Given the description of an element on the screen output the (x, y) to click on. 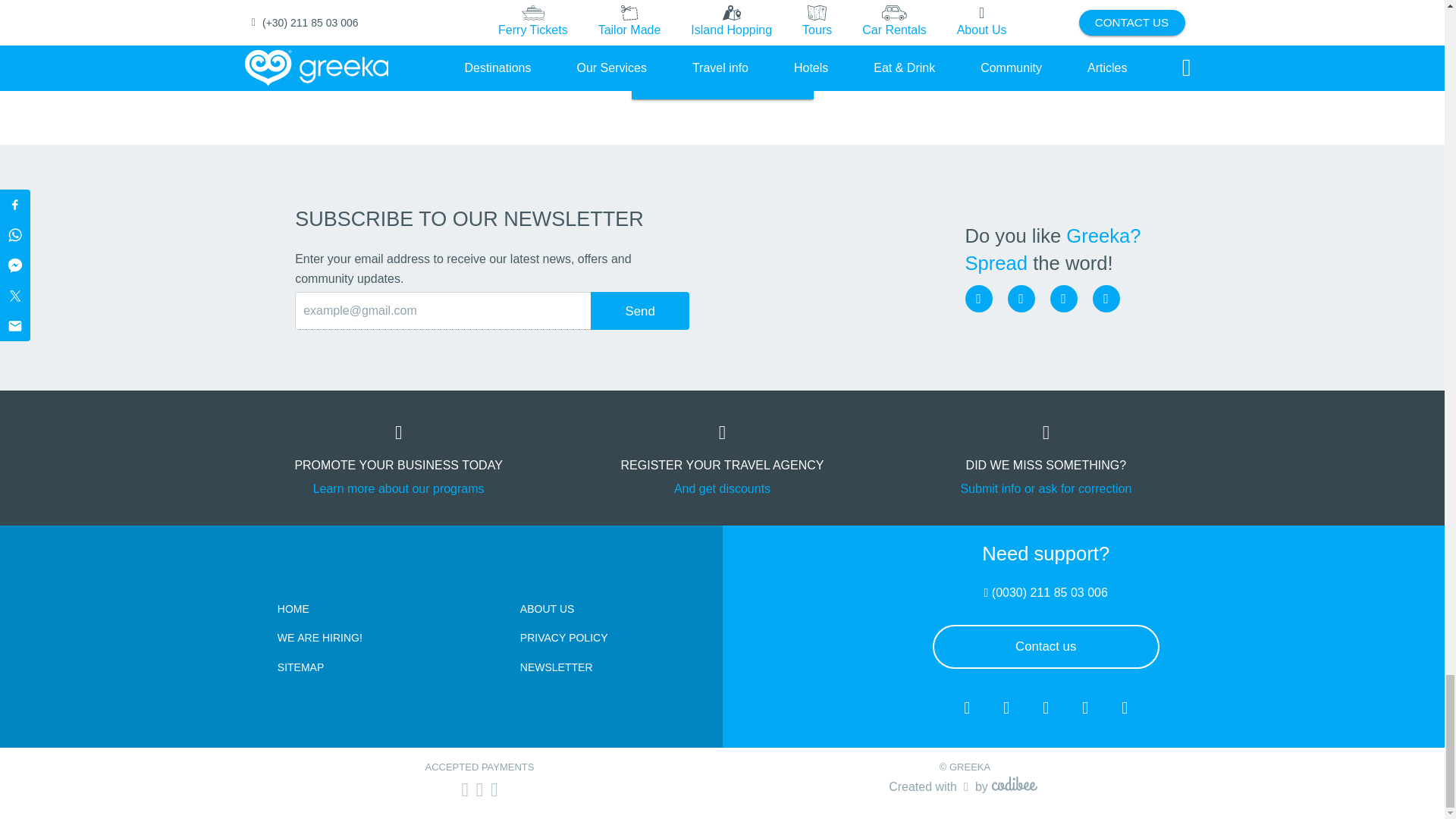
Send (639, 310)
